Given the description of an element on the screen output the (x, y) to click on. 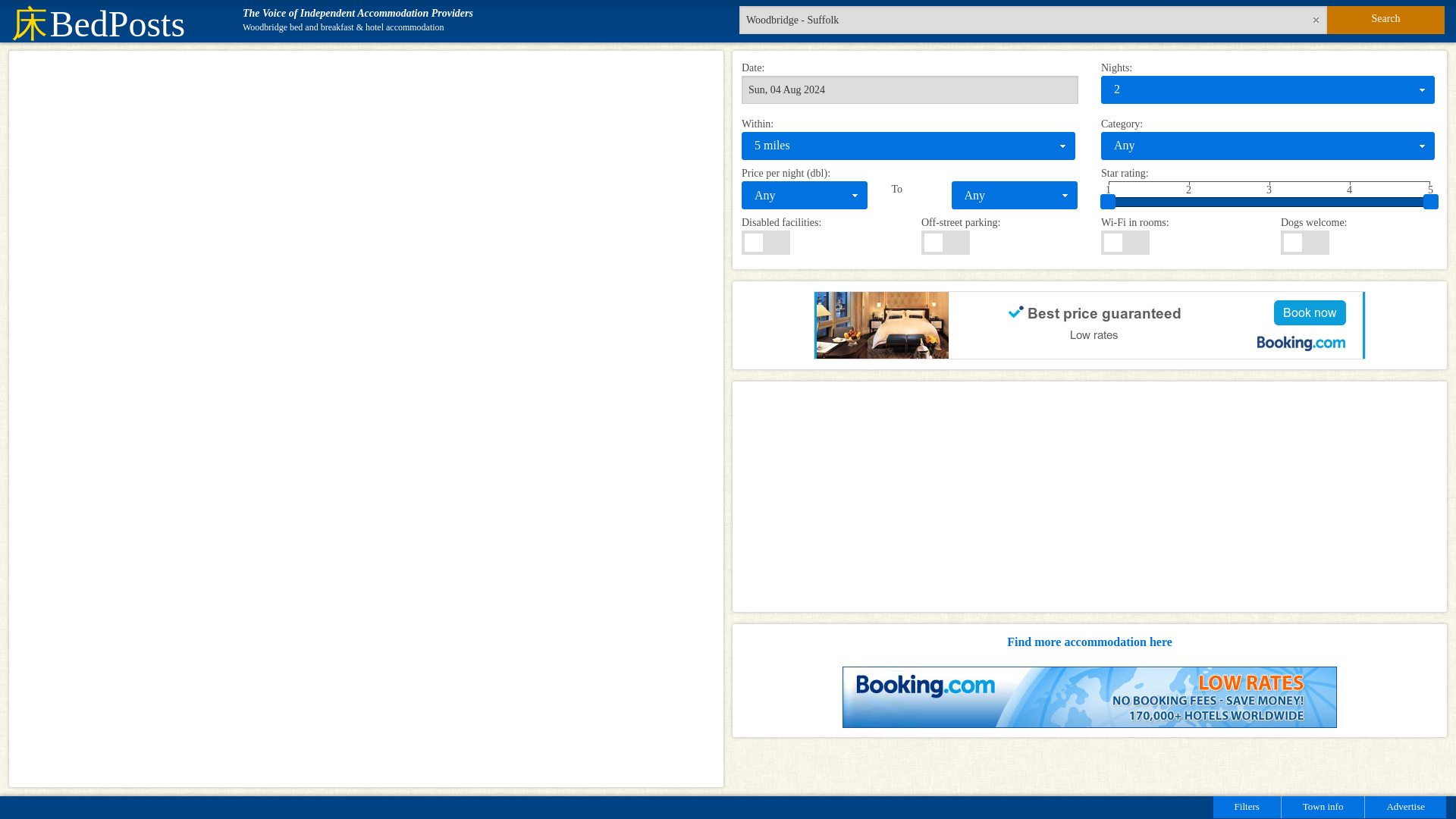
Search (1385, 19)
Town info (1323, 807)
Sun, 04 Aug 2024 (909, 90)
Woodbridge - Suffolk (1032, 19)
 BedPosts (97, 31)
Advertise (1404, 807)
Find more accommodation here (1089, 642)
Filters (1246, 807)
